Given the description of an element on the screen output the (x, y) to click on. 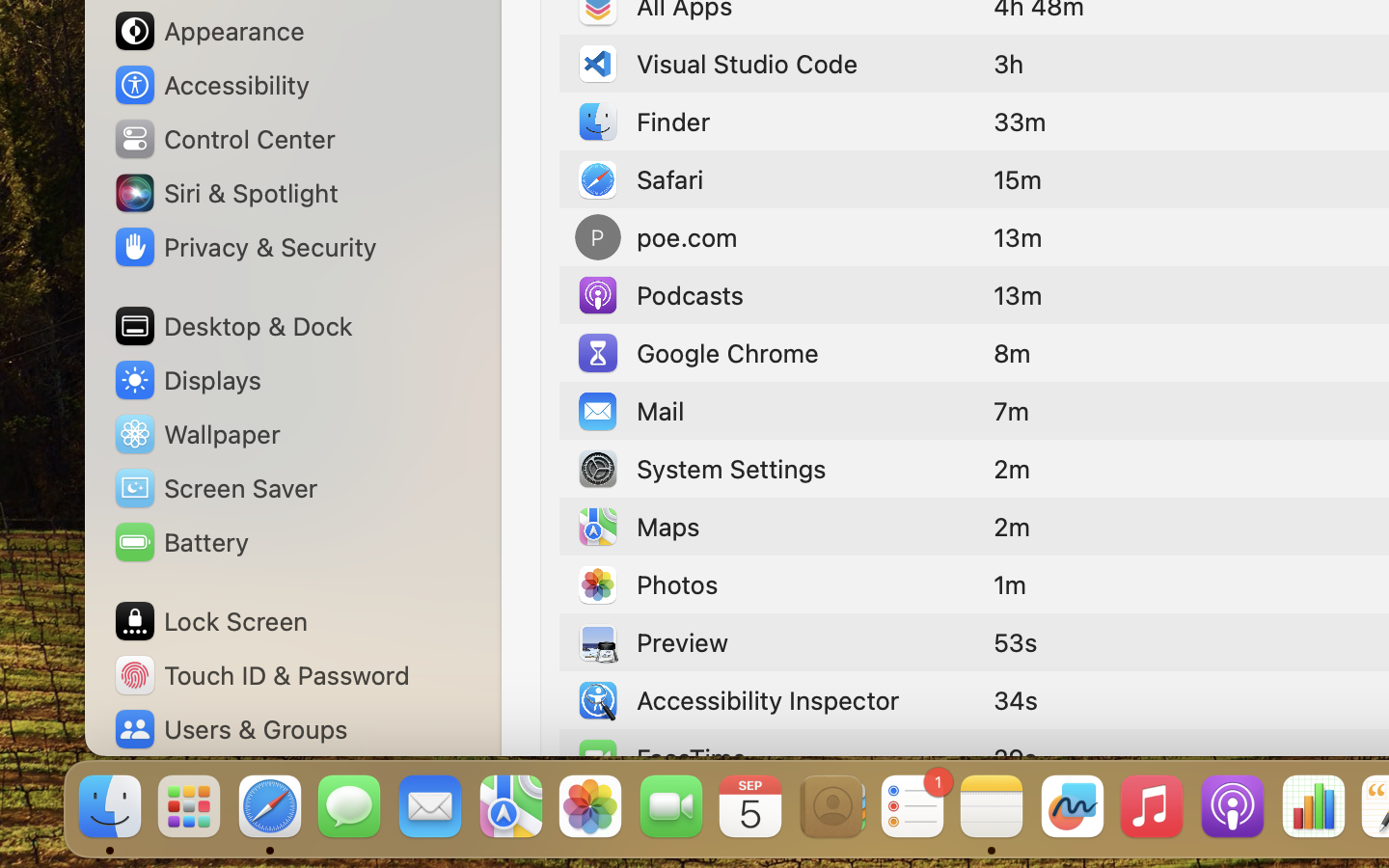
8m Element type: AXStaticText (1011, 352)
Control Center Element type: AXStaticText (223, 138)
poe.com Element type: AXStaticText (655, 237)
Safari Element type: AXStaticText (639, 179)
7m Element type: AXStaticText (1011, 410)
